Given the description of an element on the screen output the (x, y) to click on. 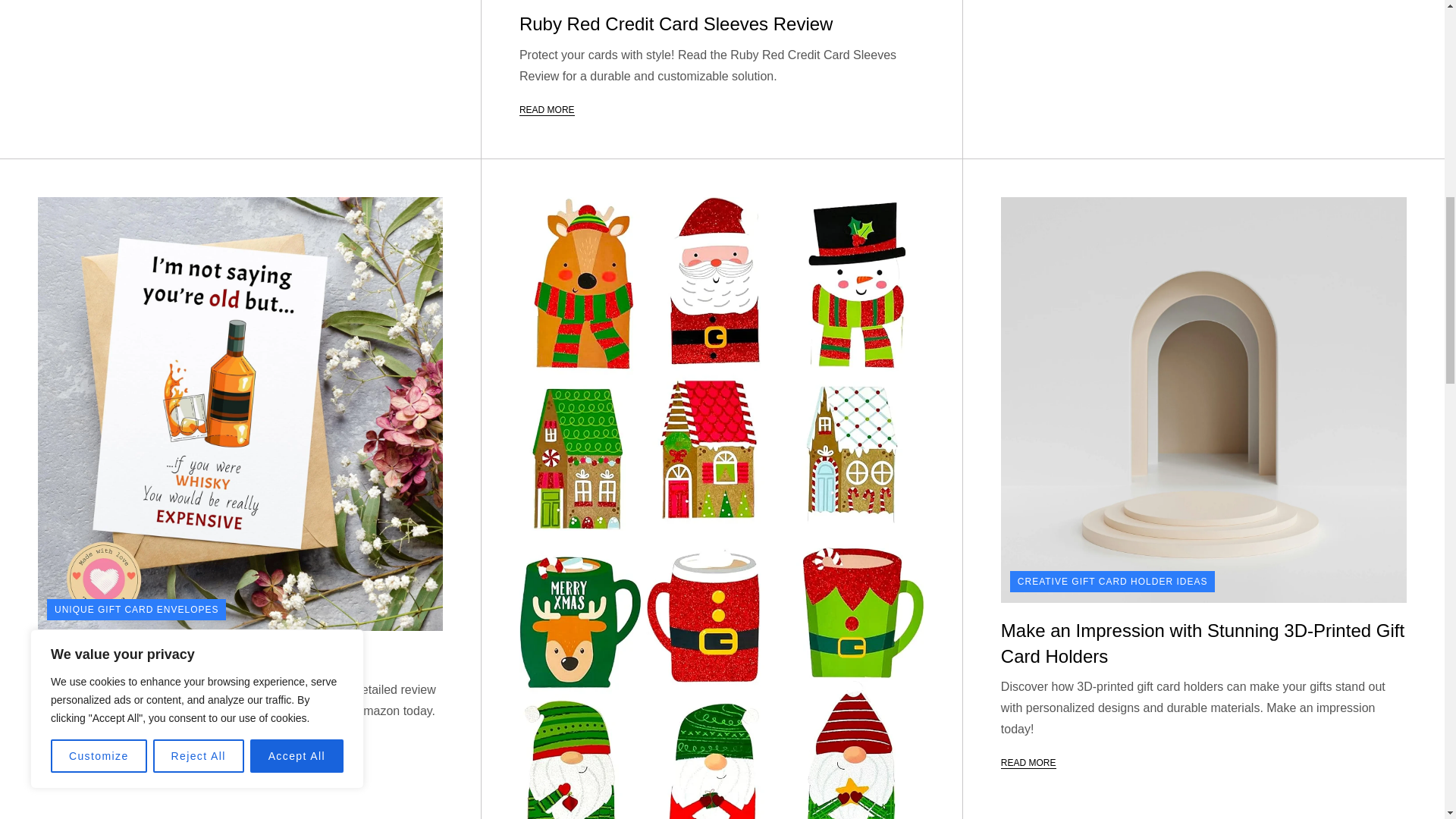
Ruby Red Credit Card Sleeves Review (675, 23)
READ MORE (547, 110)
